Given the description of an element on the screen output the (x, y) to click on. 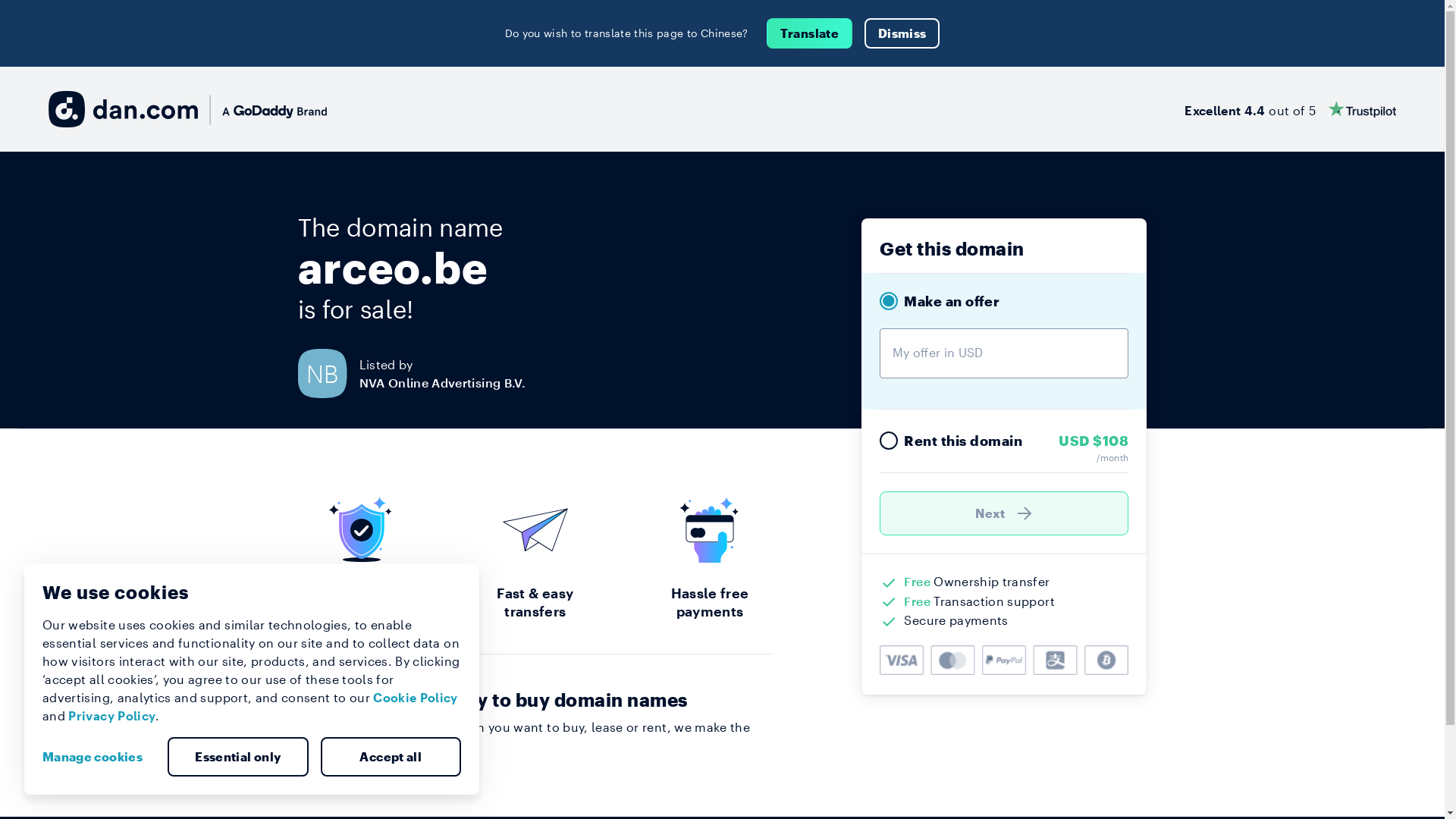
Excellent 4.4 out of 5 Element type: text (1290, 109)
Dismiss Element type: text (901, 33)
Accept all Element type: text (390, 756)
Cookie Policy Element type: text (415, 697)
Next
) Element type: text (1003, 513)
Privacy Policy Element type: text (111, 715)
Essential only Element type: text (237, 756)
Translate Element type: text (809, 33)
Manage cookies Element type: text (98, 756)
